Given the description of an element on the screen output the (x, y) to click on. 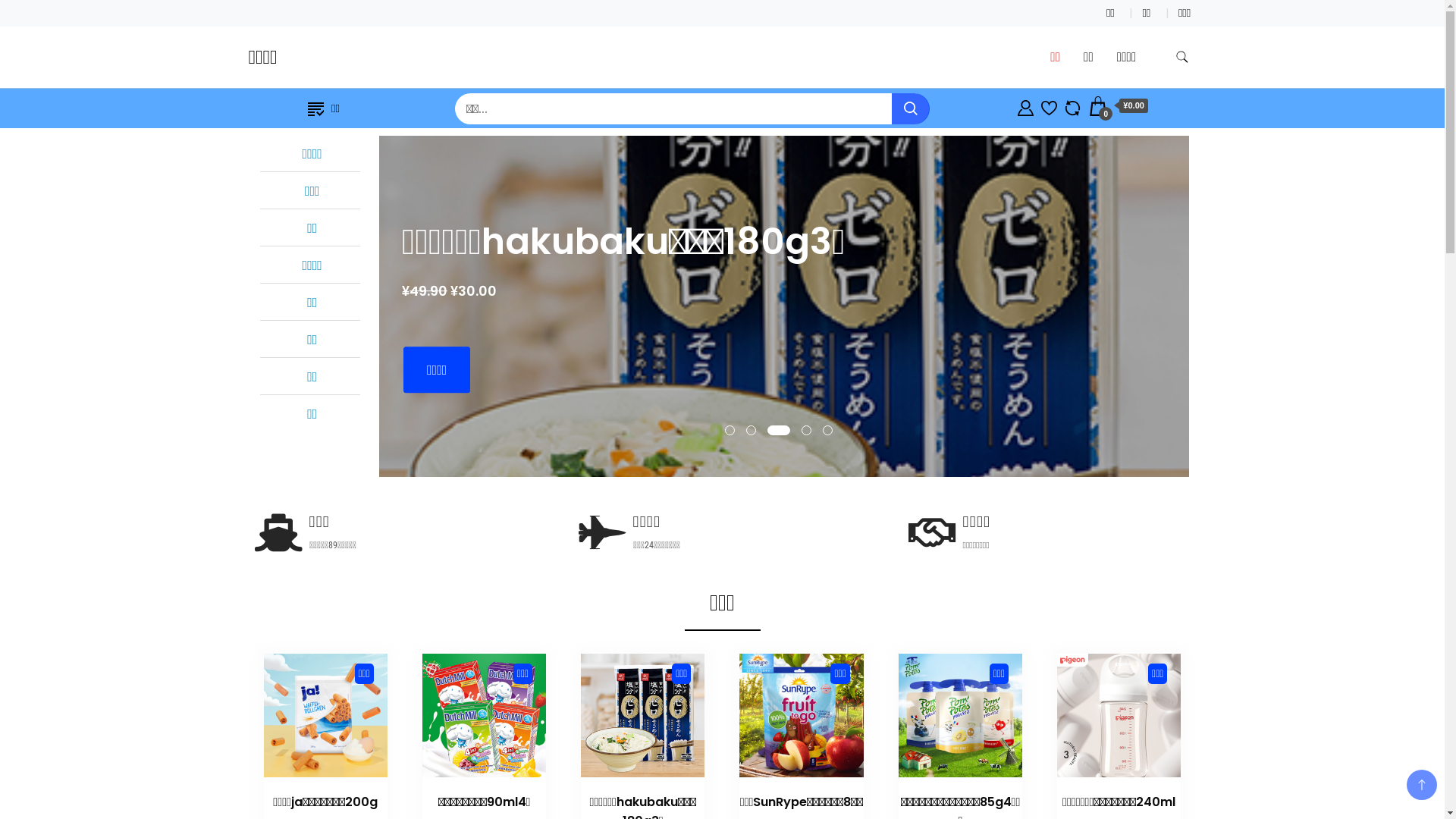
Compare Element type: hover (1072, 105)
Wishlist Element type: hover (1049, 105)
My Account Element type: hover (1025, 105)
